Given the description of an element on the screen output the (x, y) to click on. 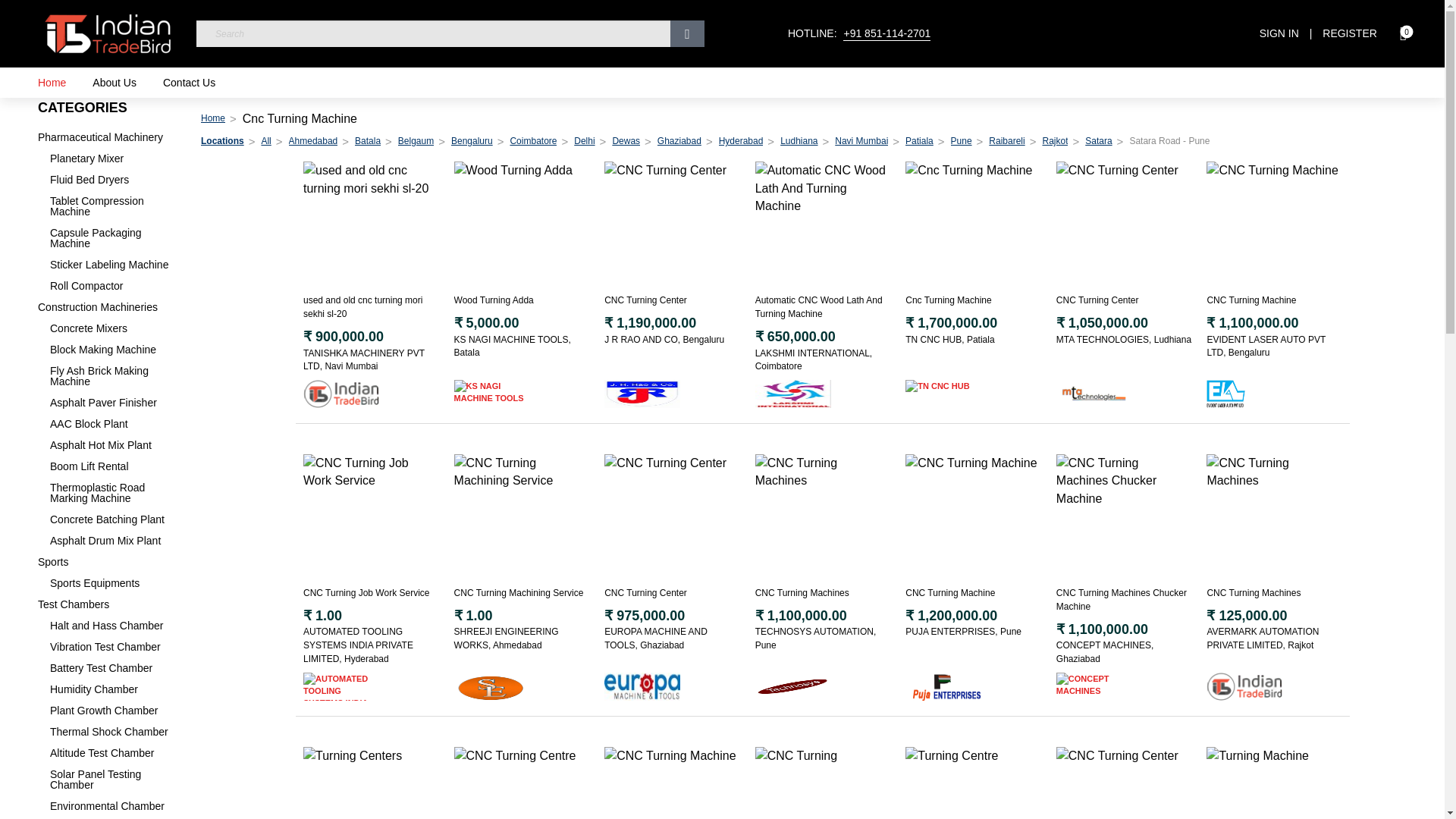
Ahmedabad (312, 141)
Satara (1098, 141)
Altitude Test Chamber (113, 752)
Batala (367, 141)
Raibareli (1006, 141)
Delhi (583, 141)
About Us (114, 82)
Sports Equipments (113, 583)
Home (51, 82)
Plant Growth Chamber (113, 710)
